Given the description of an element on the screen output the (x, y) to click on. 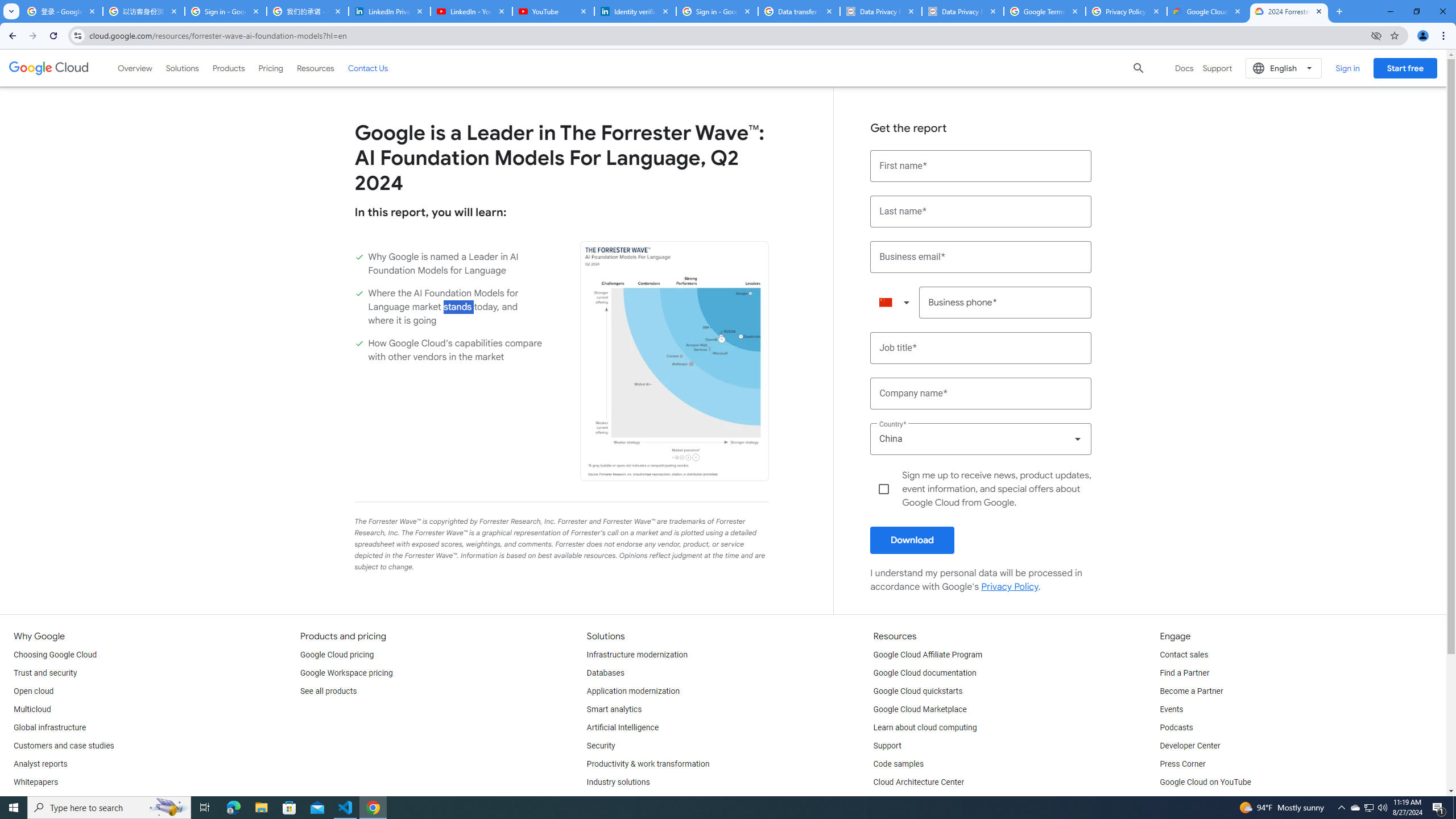
Job title* (981, 347)
Pricing (270, 67)
LinkedIn Privacy Policy (389, 11)
Global infrastructure (49, 728)
